Given the description of an element on the screen output the (x, y) to click on. 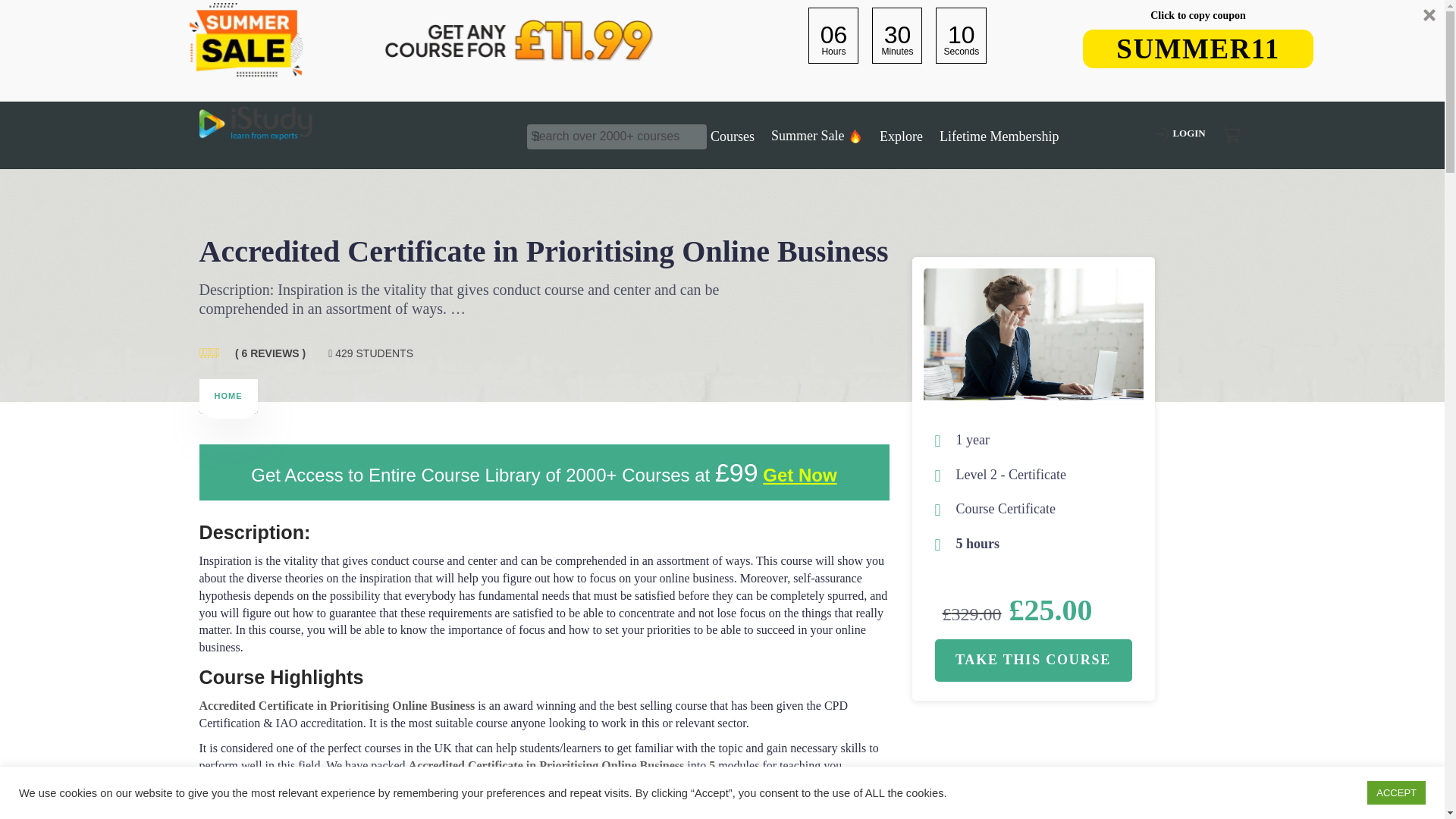
Courses (732, 136)
Summer Sale (817, 136)
Accredited Certificate in Prioritising Online Business (1032, 333)
Lifetime Membership (998, 136)
Explore (901, 136)
LOGIN (1188, 134)
